Given the description of an element on the screen output the (x, y) to click on. 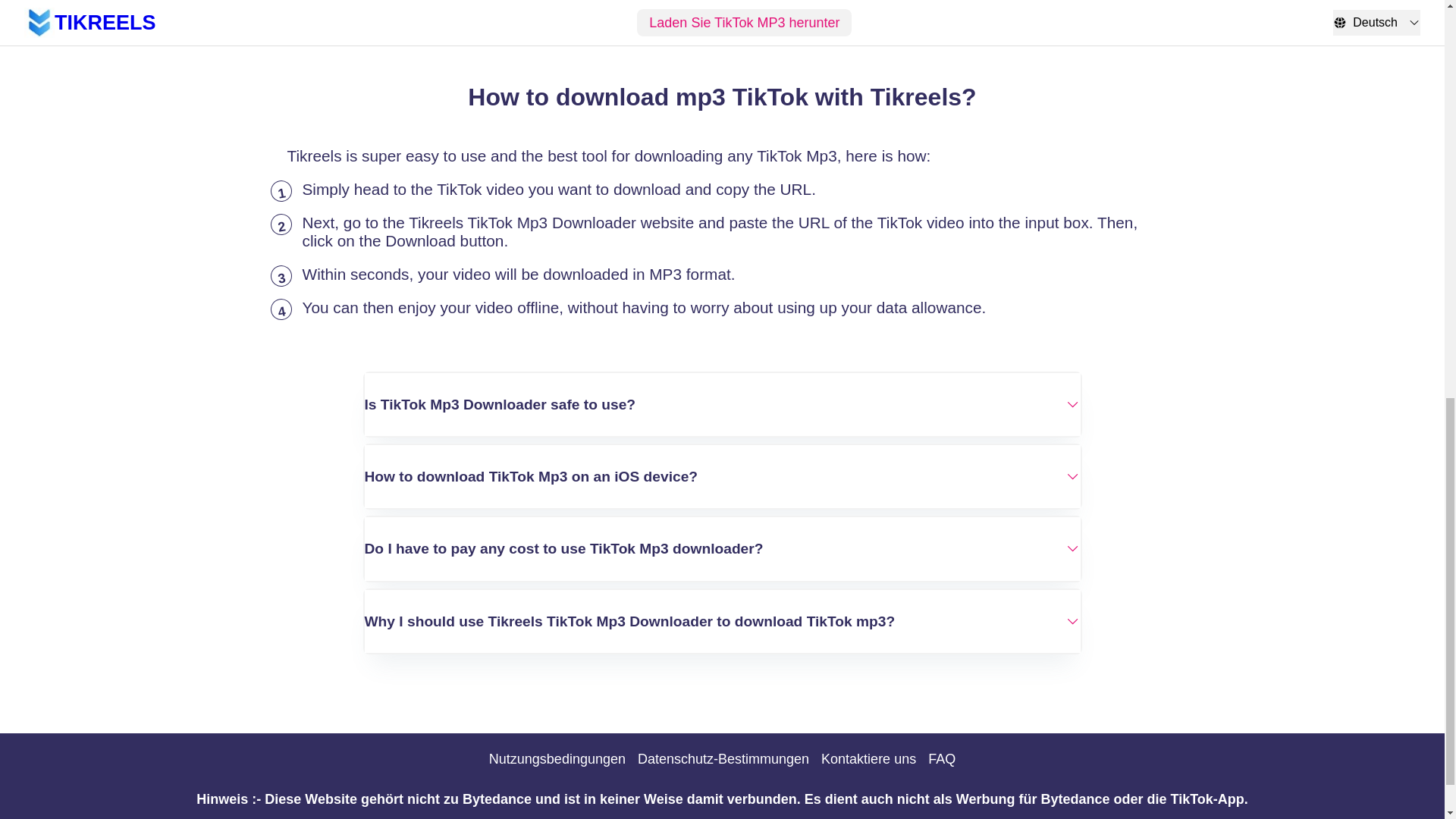
How to download TikTok Mp3 on an iOS device? (722, 476)
Do I have to pay any cost to use TikTok Mp3 downloader? (722, 547)
Datenschutz-Bestimmungen (723, 759)
FAQ (941, 759)
Kontaktiere uns (868, 759)
Nutzungsbedingungen (557, 759)
Is TikTok Mp3 Downloader safe to use? (722, 404)
